Given the description of an element on the screen output the (x, y) to click on. 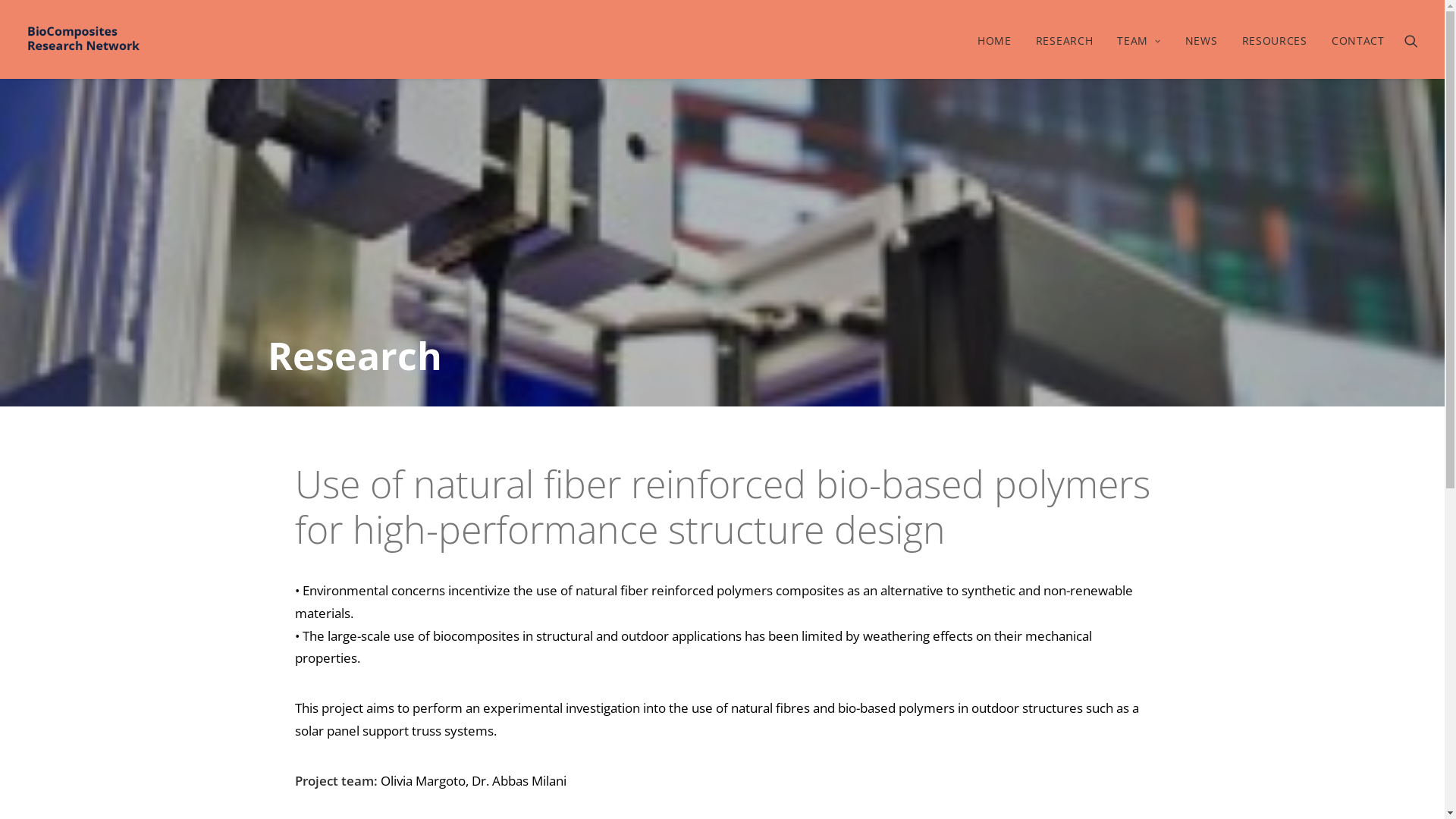
RESOURCES Element type: text (1274, 39)
CONTACT Element type: text (1352, 39)
NEWS Element type: text (1201, 39)
HOME Element type: text (994, 39)
RESEARCH Element type: text (1064, 39)
TEAM Element type: text (1138, 39)
